Given the description of an element on the screen output the (x, y) to click on. 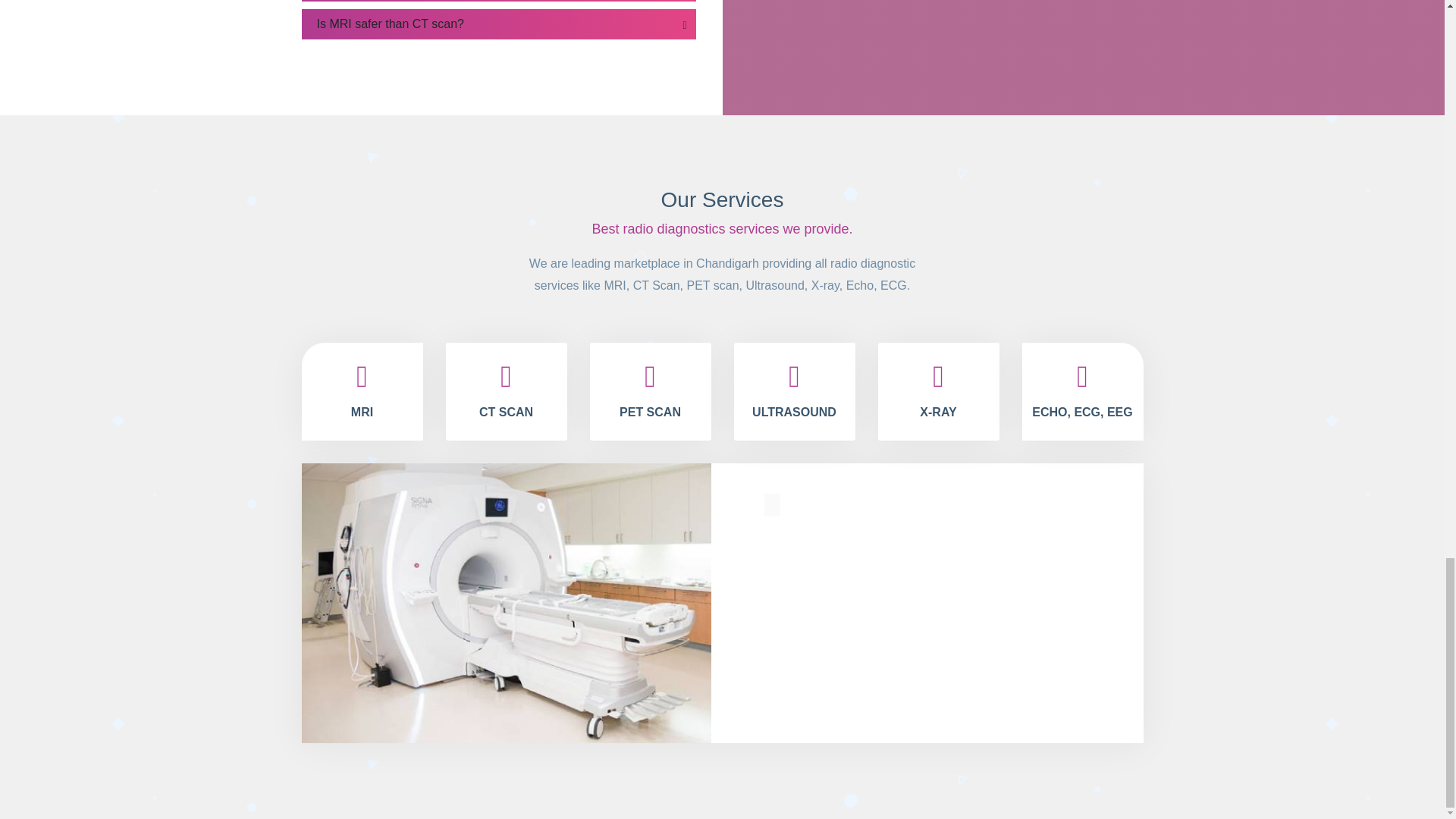
ECHO, ECG, EEG (1082, 391)
PET SCAN (650, 391)
CT SCAN (506, 391)
MRI (362, 391)
ULTRASOUND (794, 391)
Is MRI safer than CT scan? (498, 24)
X-RAY (937, 391)
